Given the description of an element on the screen output the (x, y) to click on. 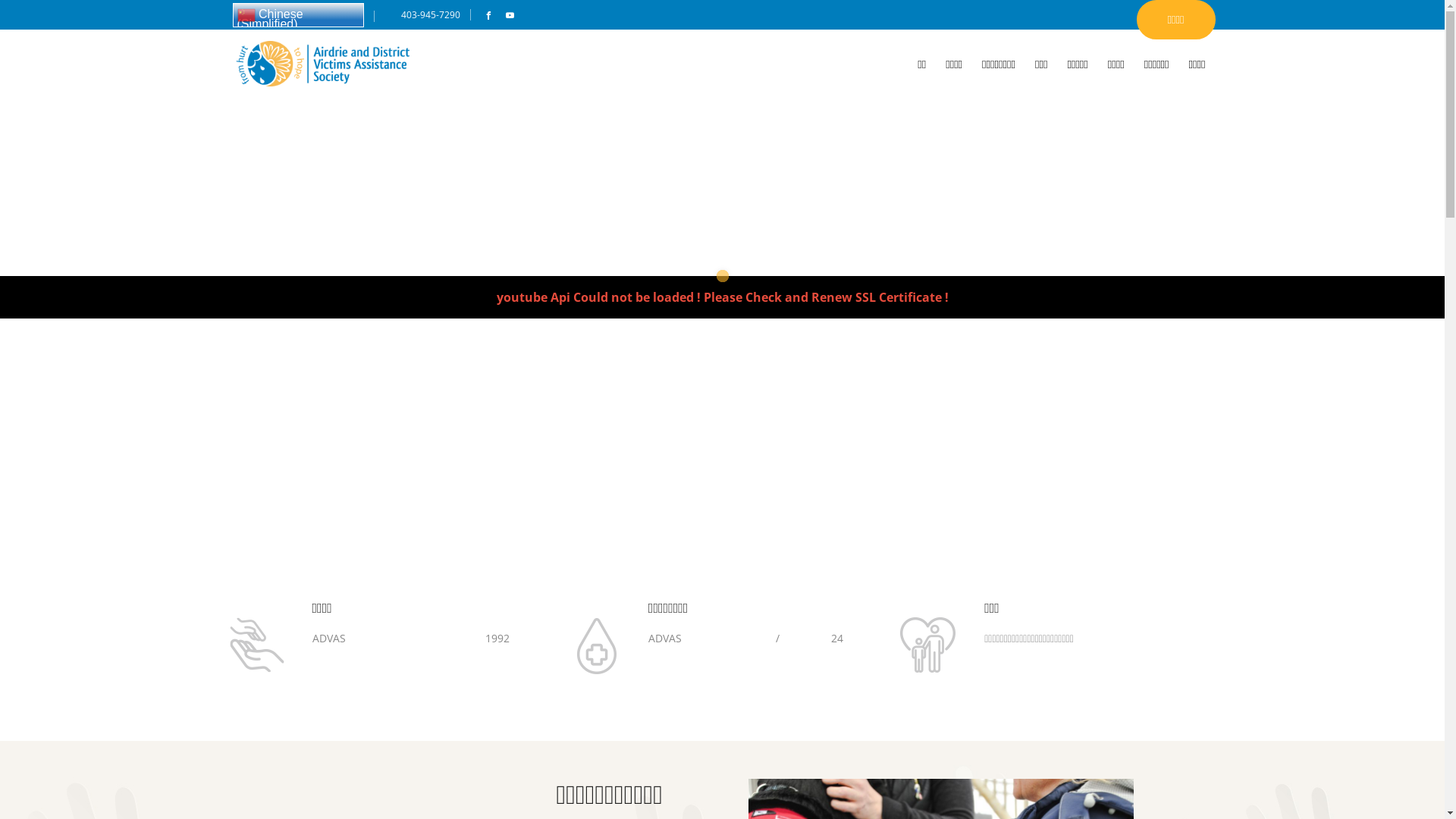
Chinese (Simplified) Element type: text (297, 15)
